Given the description of an element on the screen output the (x, y) to click on. 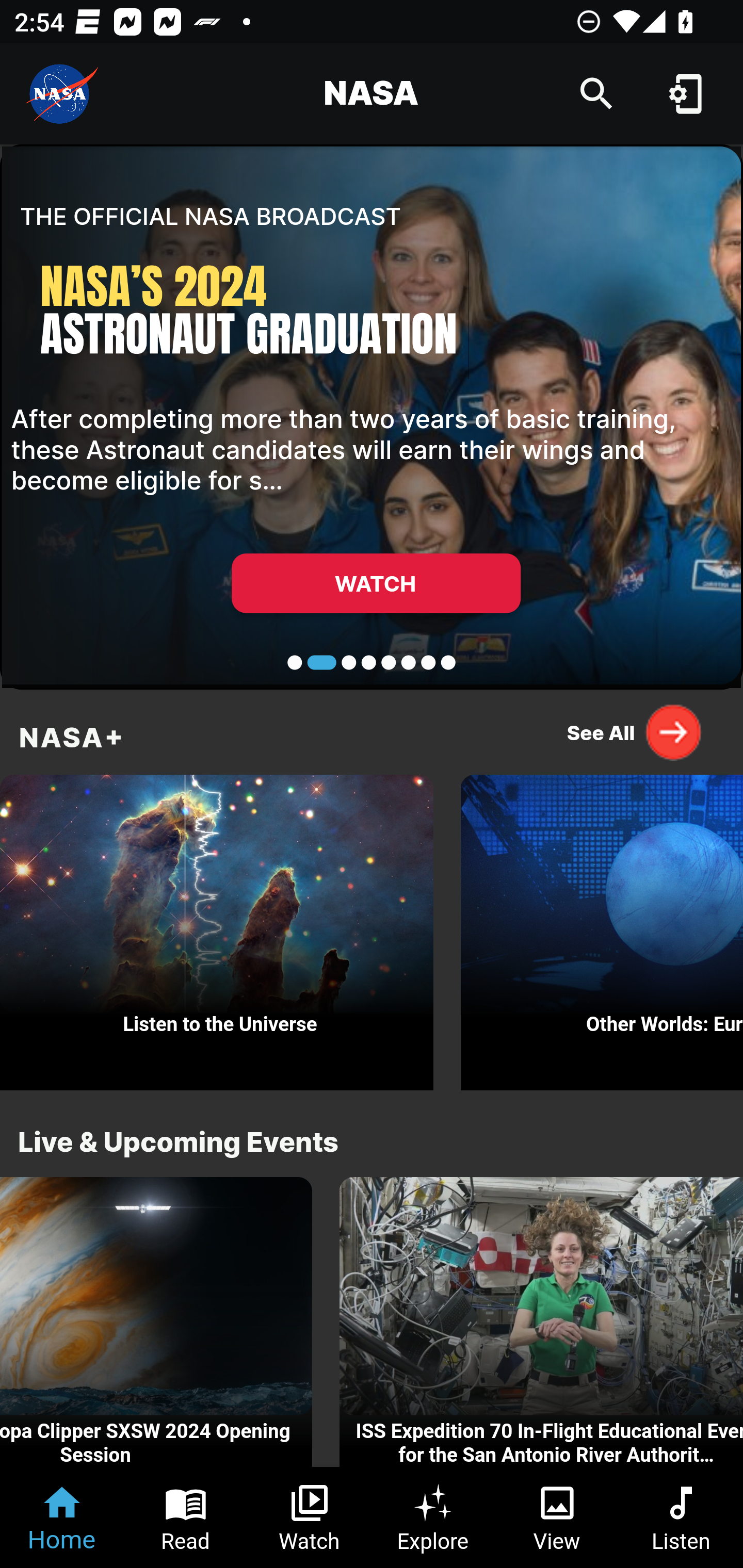
WATCH (375, 583)
See All (634, 732)
Listen to the Universe (216, 927)
Other Worlds: Europa (601, 927)
NASA's Europa Clipper SXSW 2024 Opening Session (156, 1322)
Home
Tab 1 of 6 (62, 1517)
Read
Tab 2 of 6 (185, 1517)
Watch
Tab 3 of 6 (309, 1517)
Explore
Tab 4 of 6 (433, 1517)
View
Tab 5 of 6 (556, 1517)
Listen
Tab 6 of 6 (680, 1517)
